Given the description of an element on the screen output the (x, y) to click on. 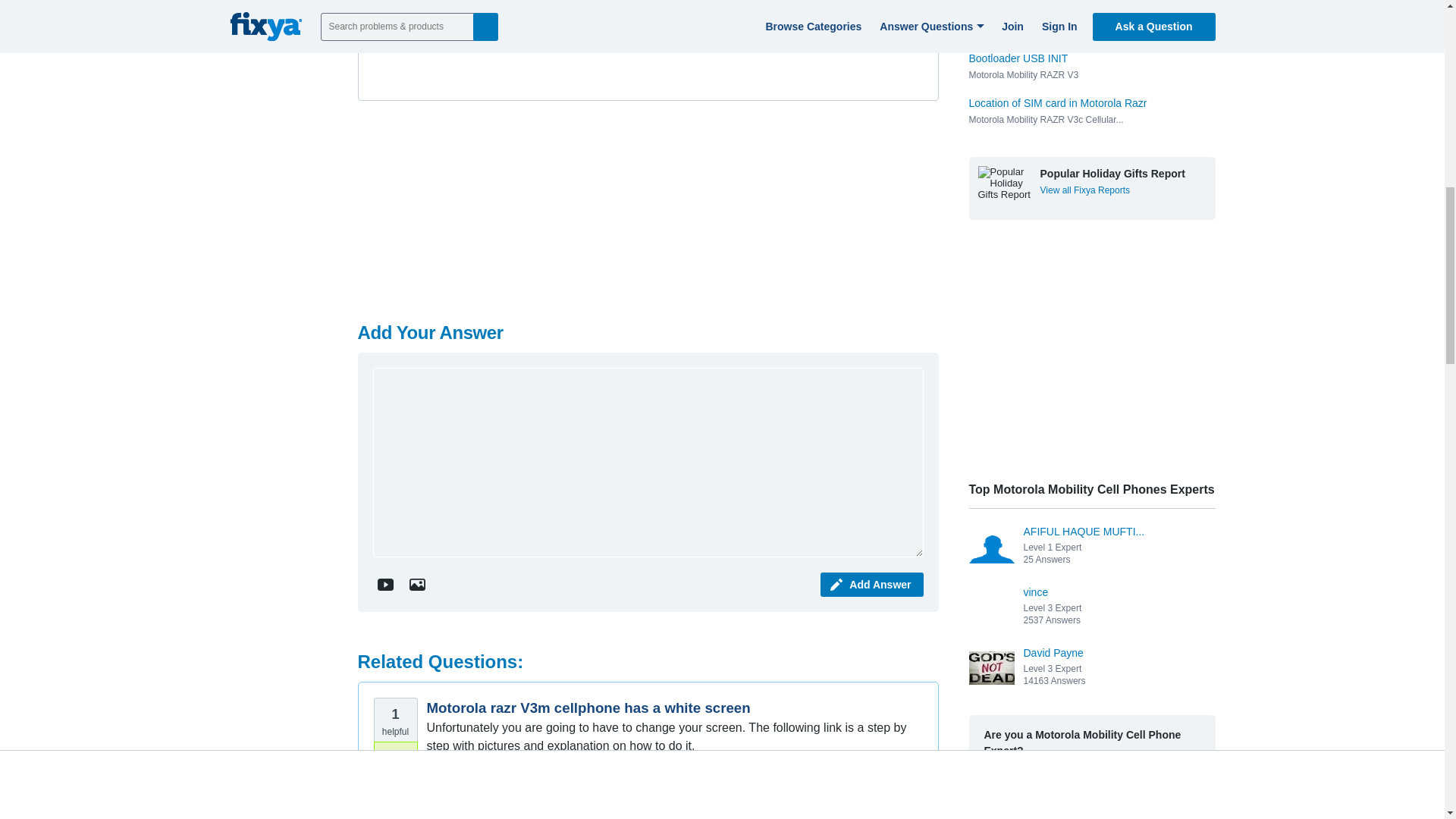
Add Answer (872, 584)
